Given the description of an element on the screen output the (x, y) to click on. 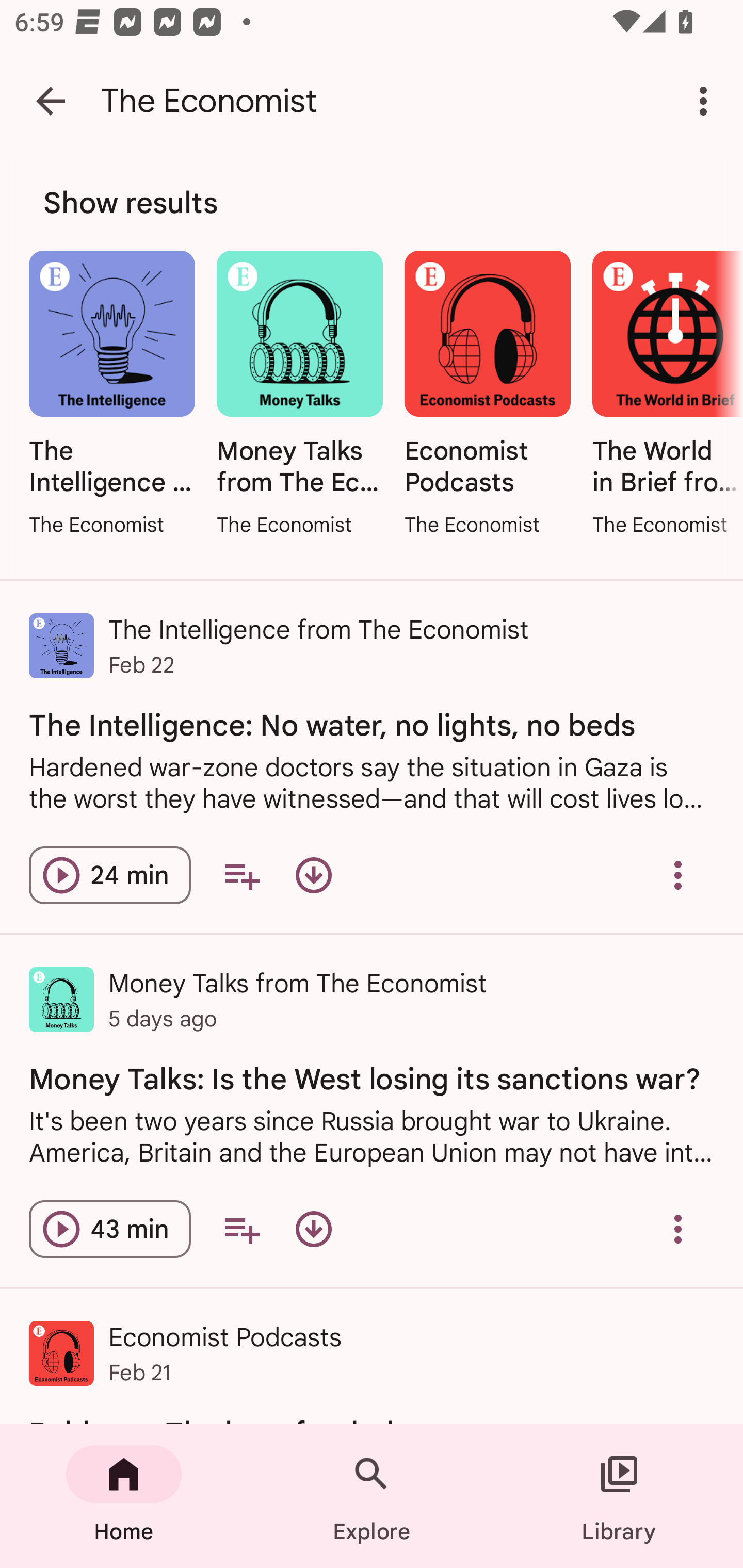
Navigate up The Economist More options (371, 100)
Navigate up (50, 101)
More options (706, 101)
Add to your queue (241, 875)
Download episode (313, 875)
Overflow menu (677, 875)
Add to your queue (241, 1229)
Download episode (313, 1229)
Overflow menu (677, 1229)
Explore (371, 1495)
Library (619, 1495)
